Given the description of an element on the screen output the (x, y) to click on. 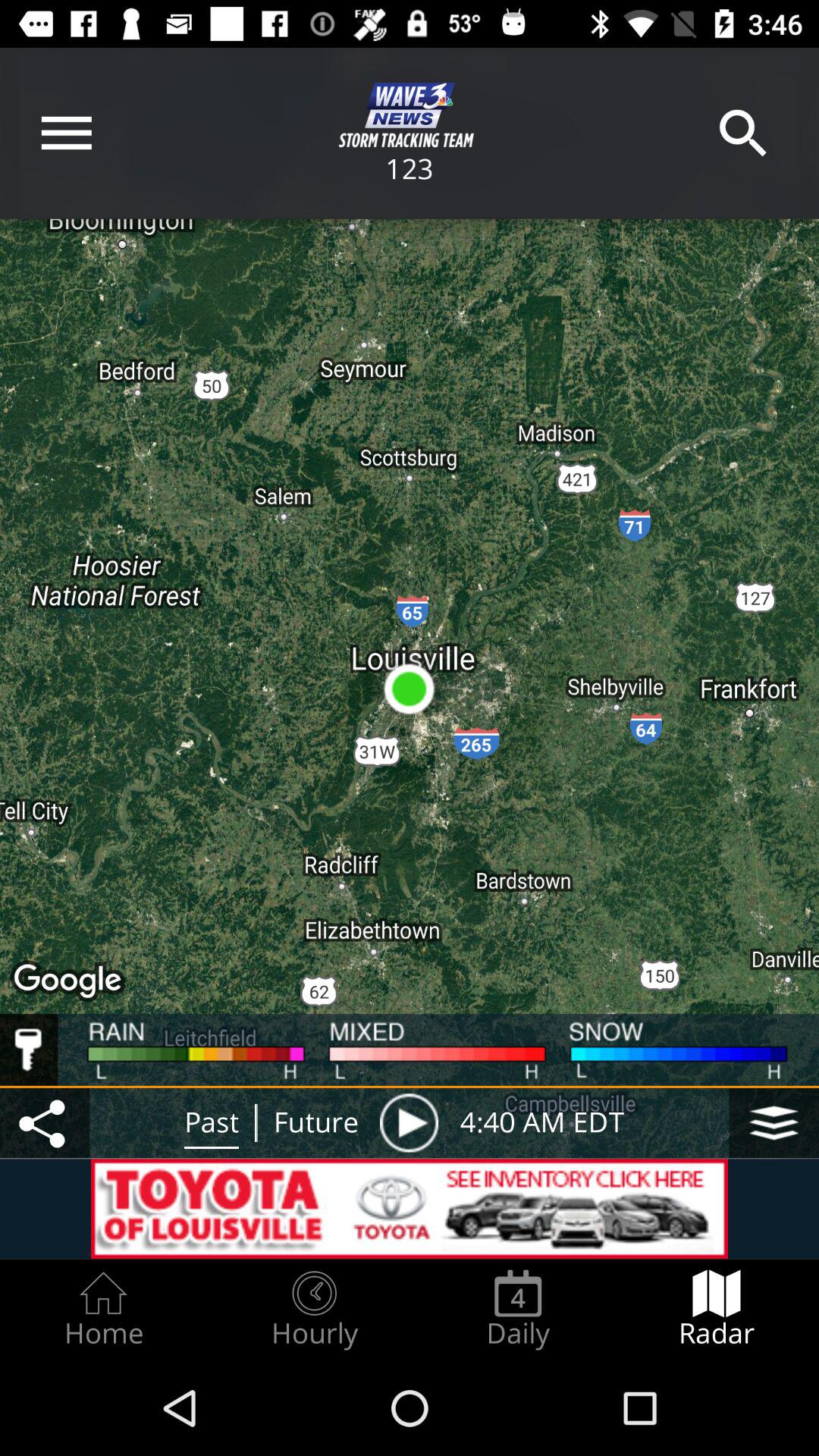
launch the radar item (716, 1309)
